Given the description of an element on the screen output the (x, y) to click on. 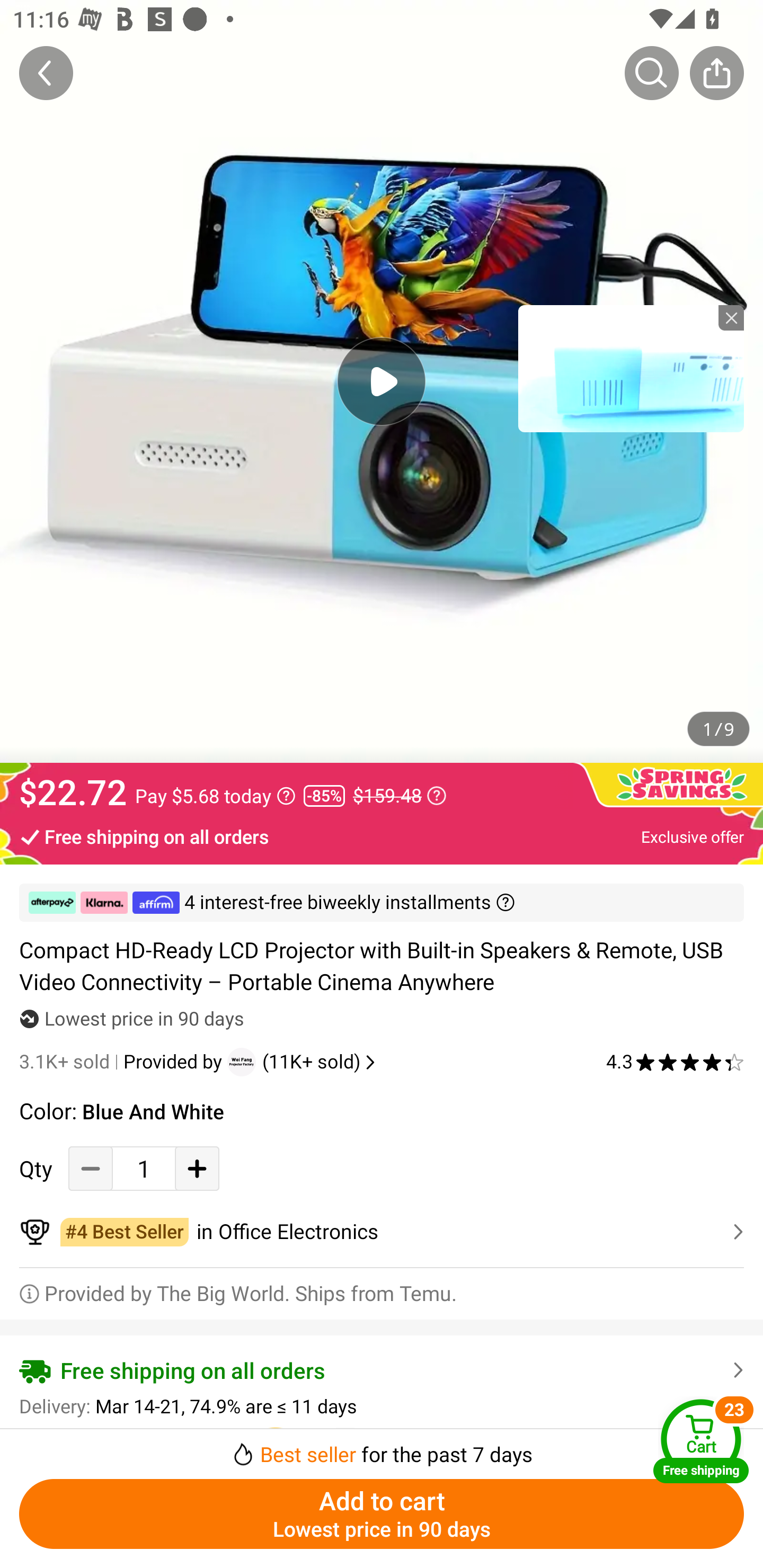
Back (46, 72)
Share (716, 72)
tronplayer_view (631, 368)
Pay $5.68 today   (215, 795)
Free shipping on all orders Exclusive offer (381, 836)
￼ ￼ ￼ 4 interest-free biweekly installments ￼ (381, 902)
3.1K+ sold Provided by  (123, 1061)
4.3 (674, 1061)
Decrease Quantity Button (90, 1168)
1 (143, 1168)
Add Quantity button (196, 1168)
￼￼in Office Electronics (381, 1231)
Cart Free shipping Cart (701, 1440)
￼￼Best seller for the past 7 days (381, 1448)
Add to cart Lowest price in 90 days (381, 1513)
